Given the description of an element on the screen output the (x, y) to click on. 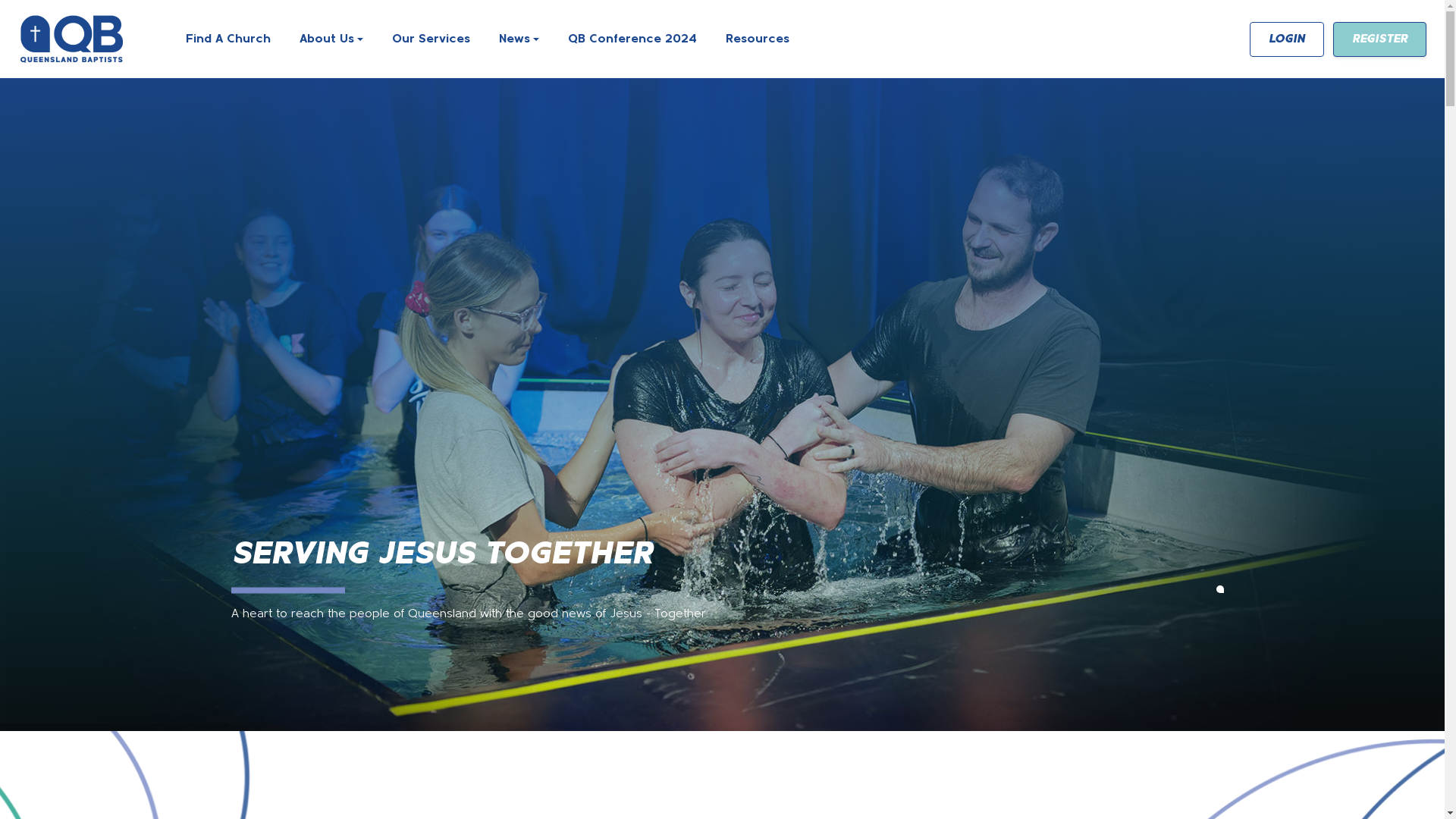
About Us Element type: text (331, 39)
Our Services Element type: text (430, 39)
Find A Church Element type: text (228, 39)
QB Conference 2024 Element type: text (632, 39)
News Element type: text (518, 39)
REGISTER Element type: text (1379, 38)
Resources Element type: text (757, 39)
LOGIN Element type: text (1286, 38)
